Given the description of an element on the screen output the (x, y) to click on. 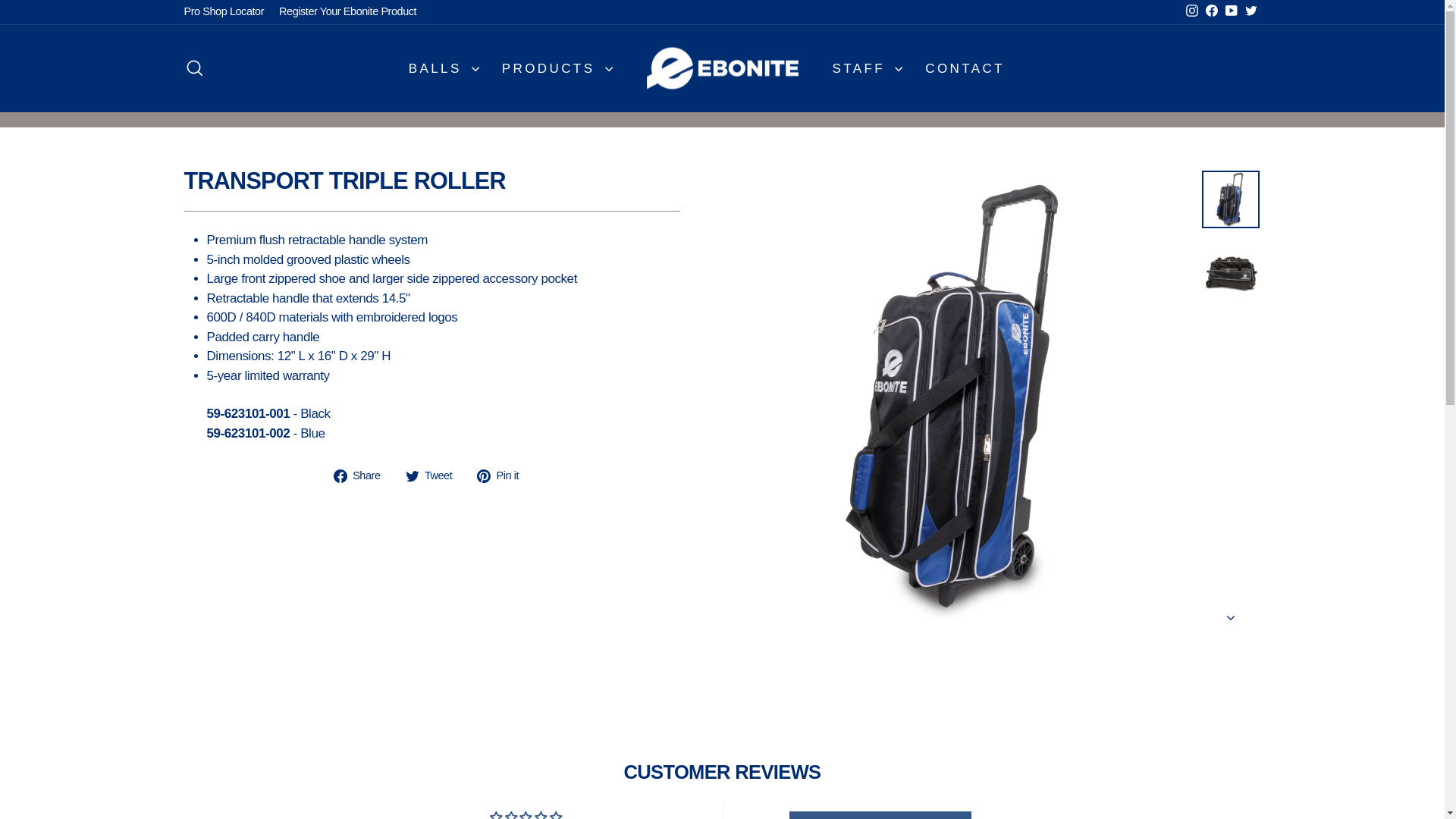
twitter (1250, 10)
Share on Facebook (362, 475)
ICON-SEARCH (194, 67)
Register Your Ebonite Product (346, 12)
Tweet on Twitter (435, 475)
twitter (194, 68)
instagram (412, 476)
Pin on Pinterest (1192, 10)
Pro Shop Locator (503, 475)
